Given the description of an element on the screen output the (x, y) to click on. 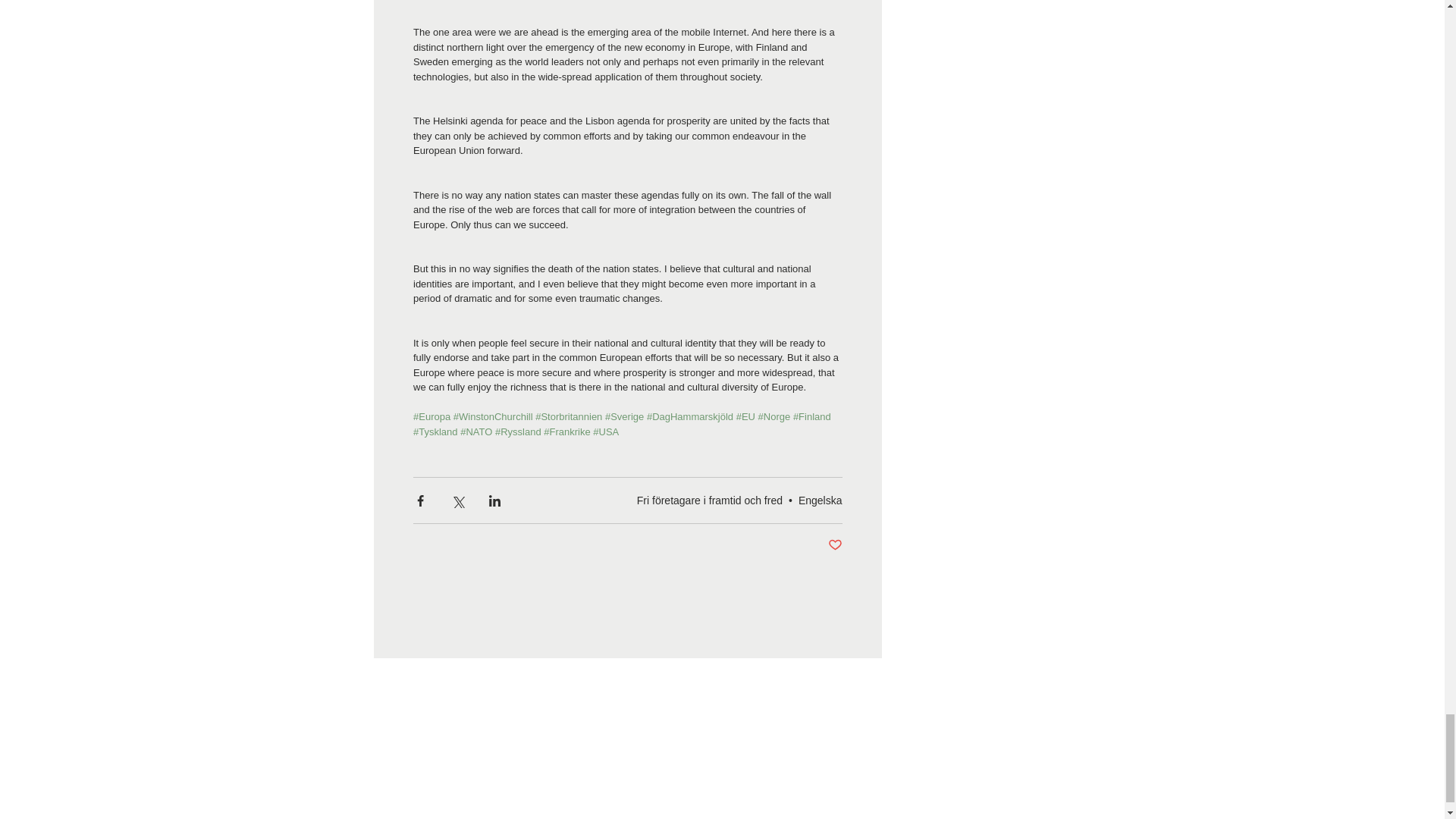
Engelska (820, 500)
